Given the description of an element on the screen output the (x, y) to click on. 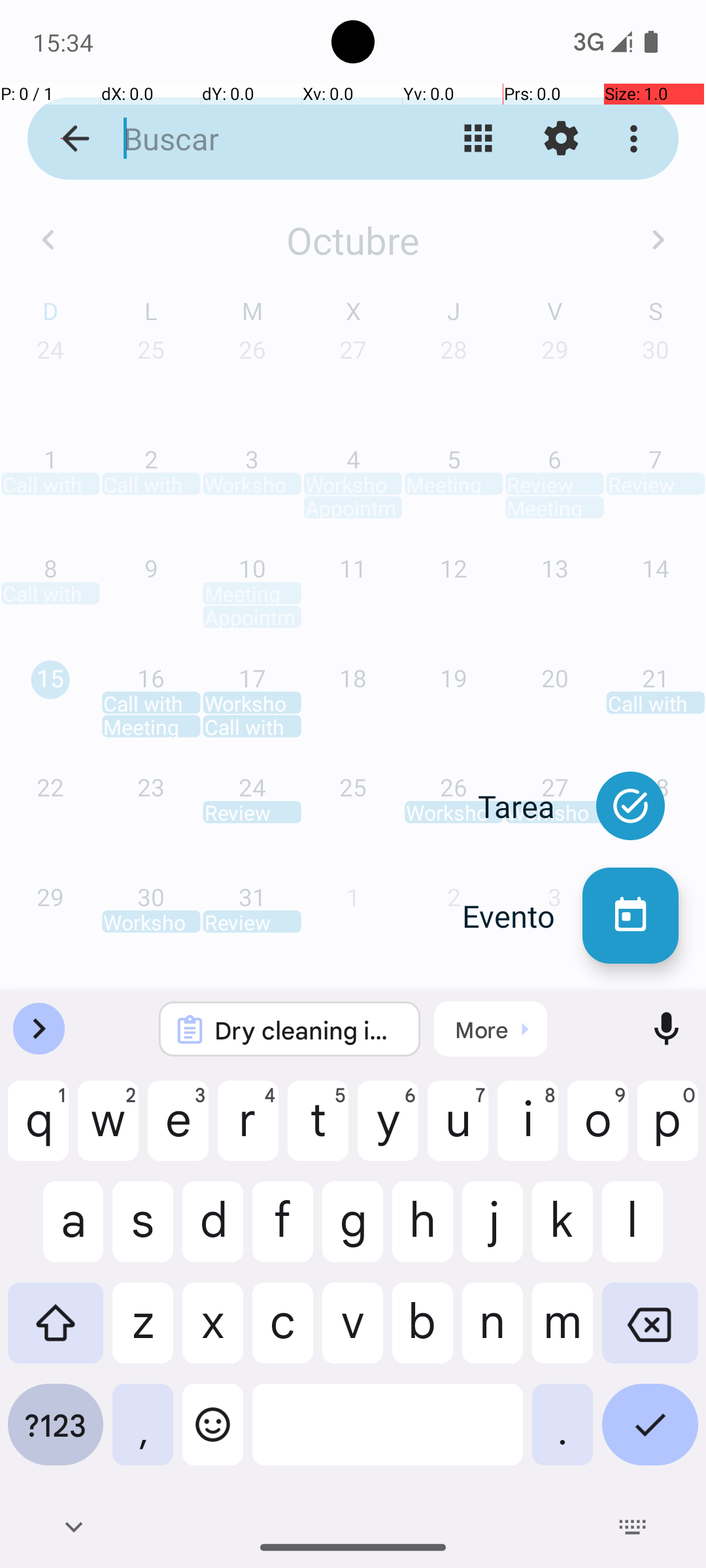
Tarea Element type: android.widget.TextView (529, 805)
Evento Element type: android.widget.TextView (522, 915)
Dry cleaning is ready for pick-up. Element type: android.widget.TextView (306, 1029)
